Given the description of an element on the screen output the (x, y) to click on. 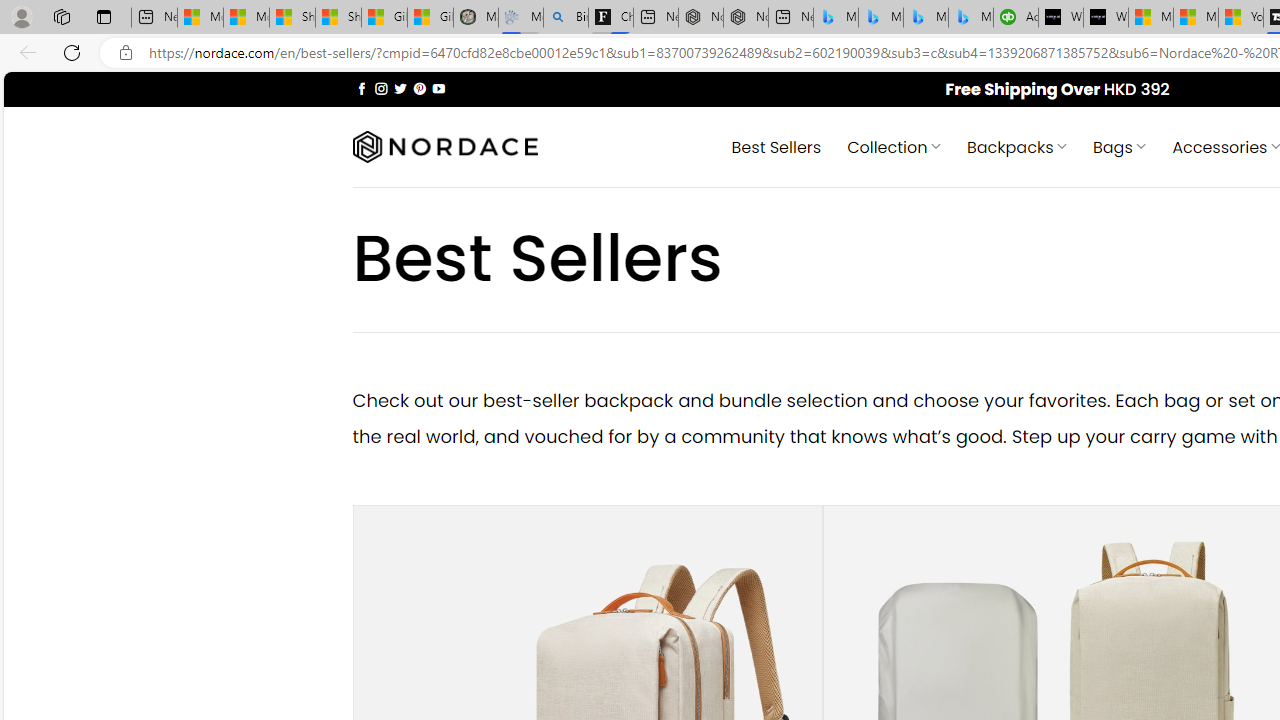
Accounting Software for Accountants, CPAs and Bookkeepers (1016, 17)
Follow on Facebook (361, 88)
Gilma and Hector both pose tropical trouble for Hawaii (430, 17)
What's the best AI voice generator? - voice.ai (1105, 17)
  Best Sellers (775, 146)
Microsoft Start Sports (1150, 17)
Follow on Instagram (381, 88)
Microsoft Start (1195, 17)
Follow on YouTube (438, 88)
